Given the description of an element on the screen output the (x, y) to click on. 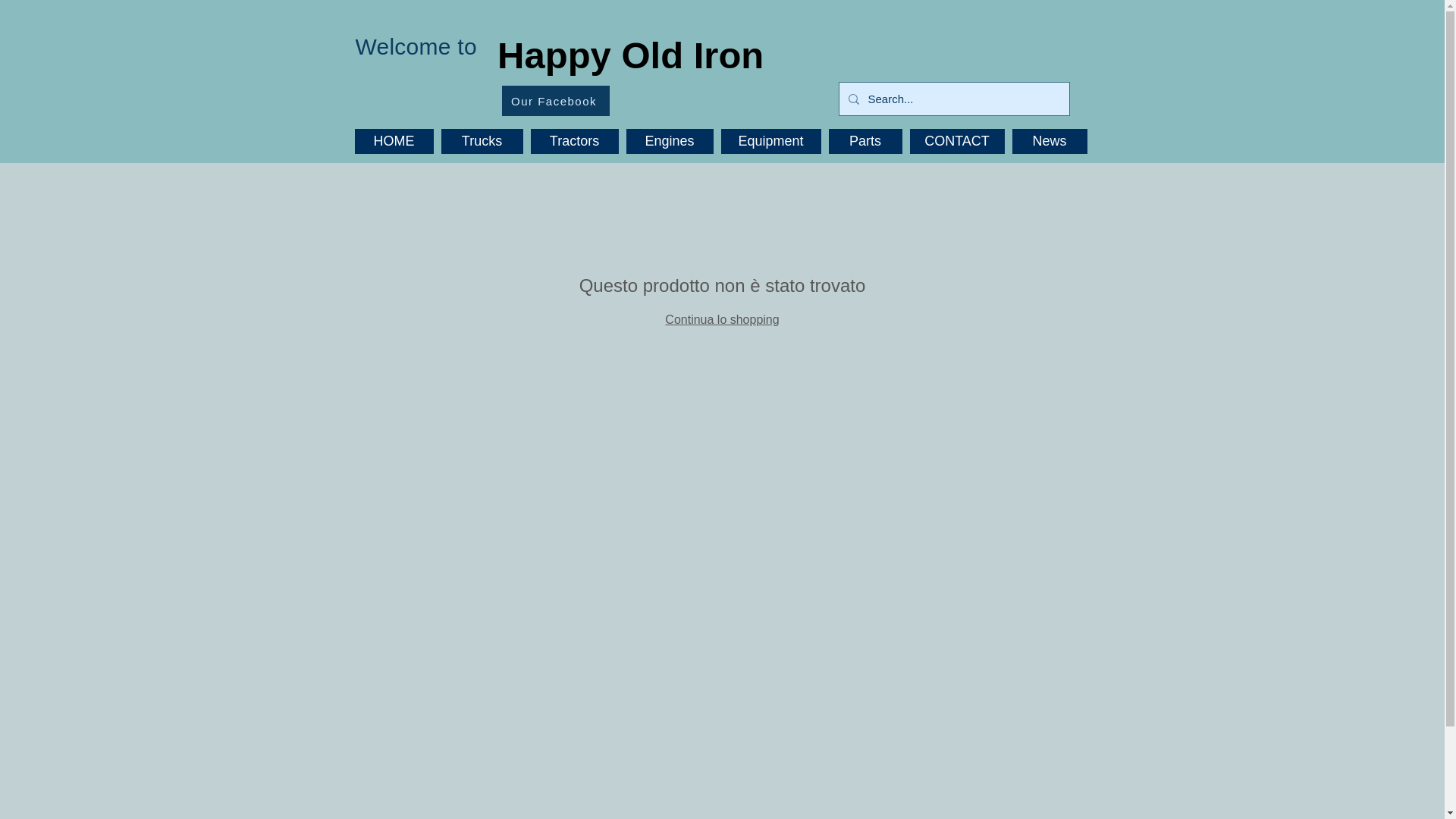
Trucks (481, 140)
HOME (394, 140)
CONTACT (957, 140)
News (1048, 140)
Our Facebook (556, 100)
Equipment (770, 140)
Continua lo shopping (721, 318)
Engines (669, 140)
Parts (864, 140)
